Given the description of an element on the screen output the (x, y) to click on. 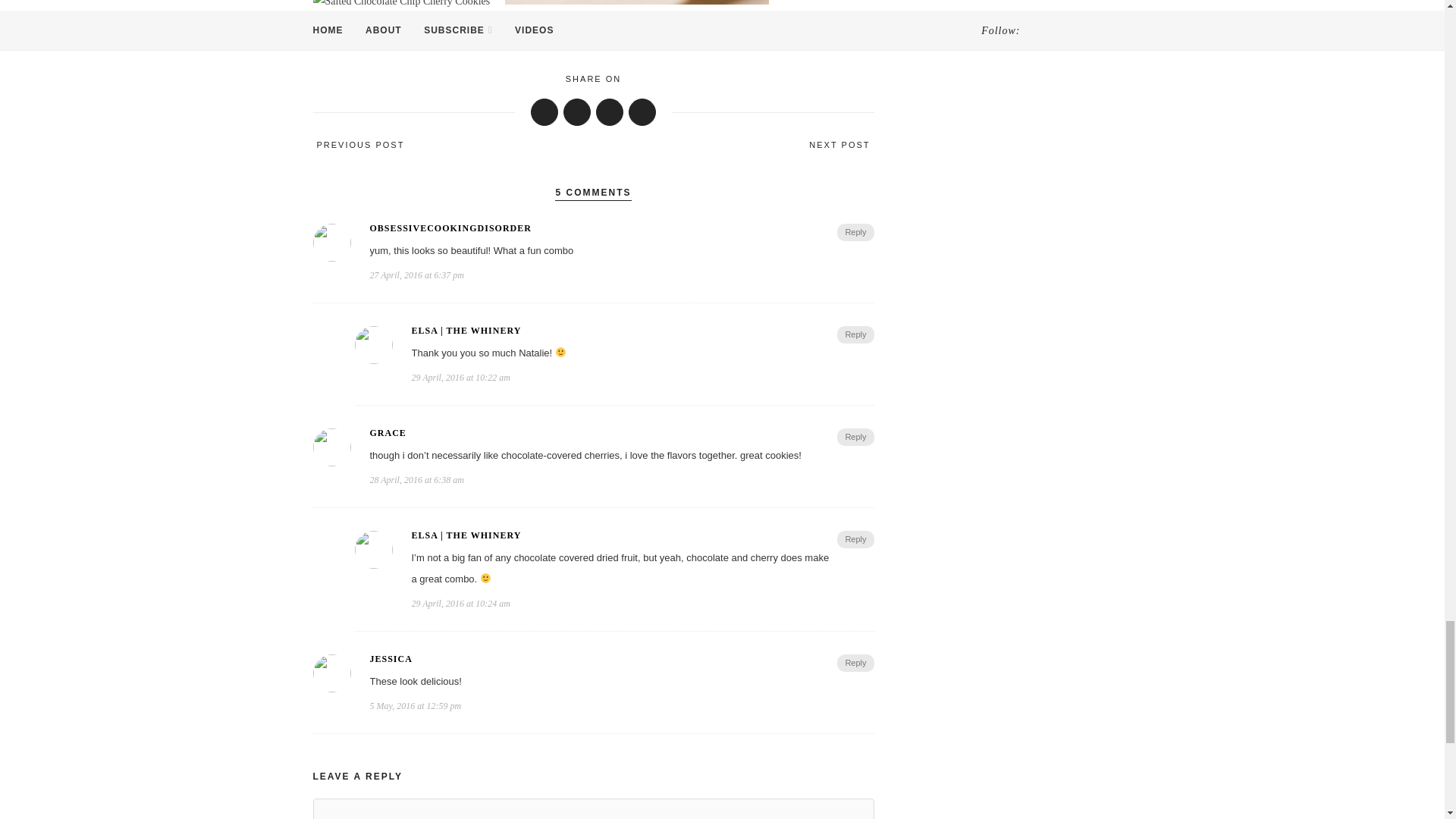
chocolate (381, 42)
baking (333, 42)
cookies (430, 42)
